Given the description of an element on the screen output the (x, y) to click on. 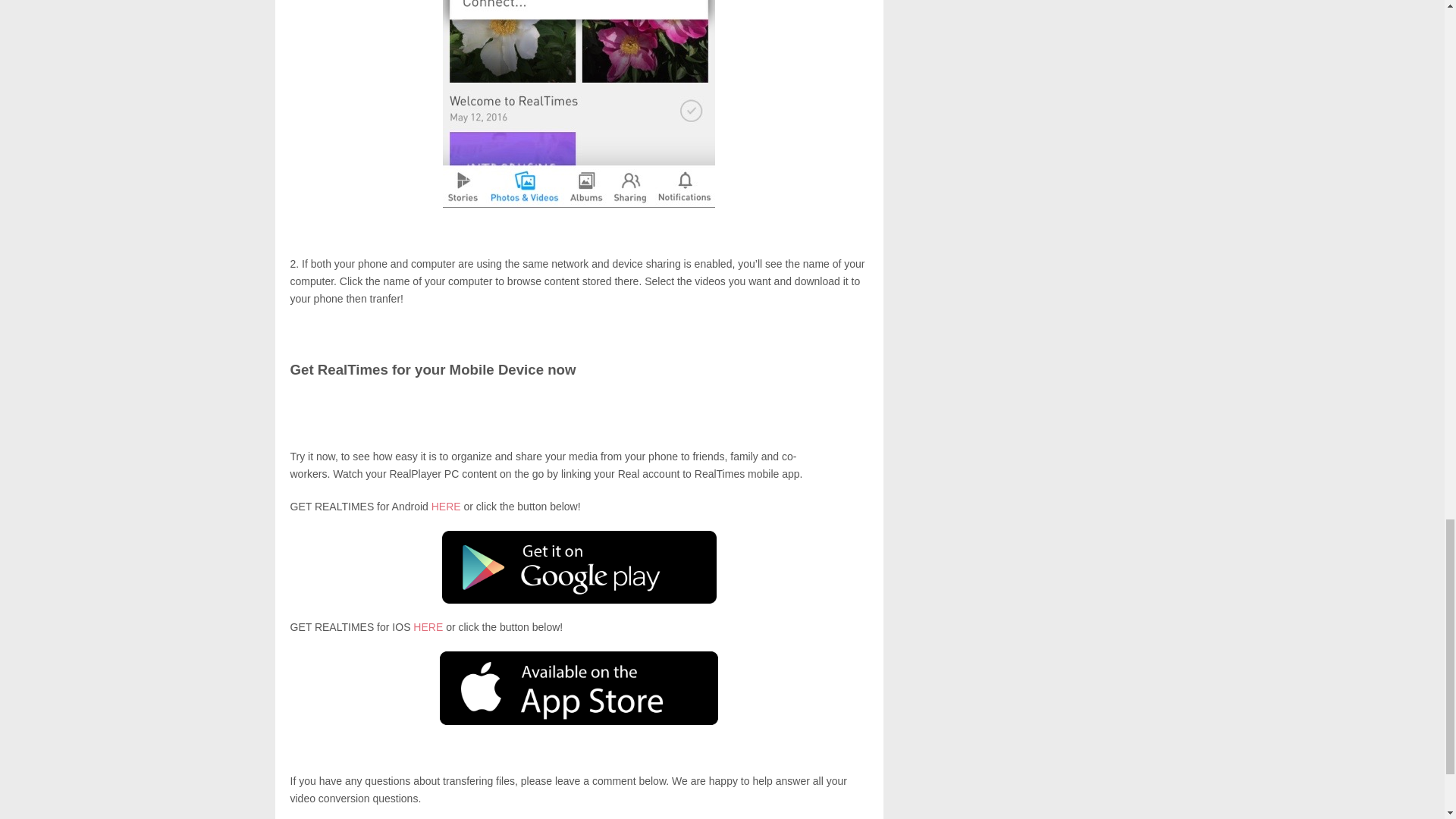
HERE (445, 506)
HERE (427, 626)
